Given the description of an element on the screen output the (x, y) to click on. 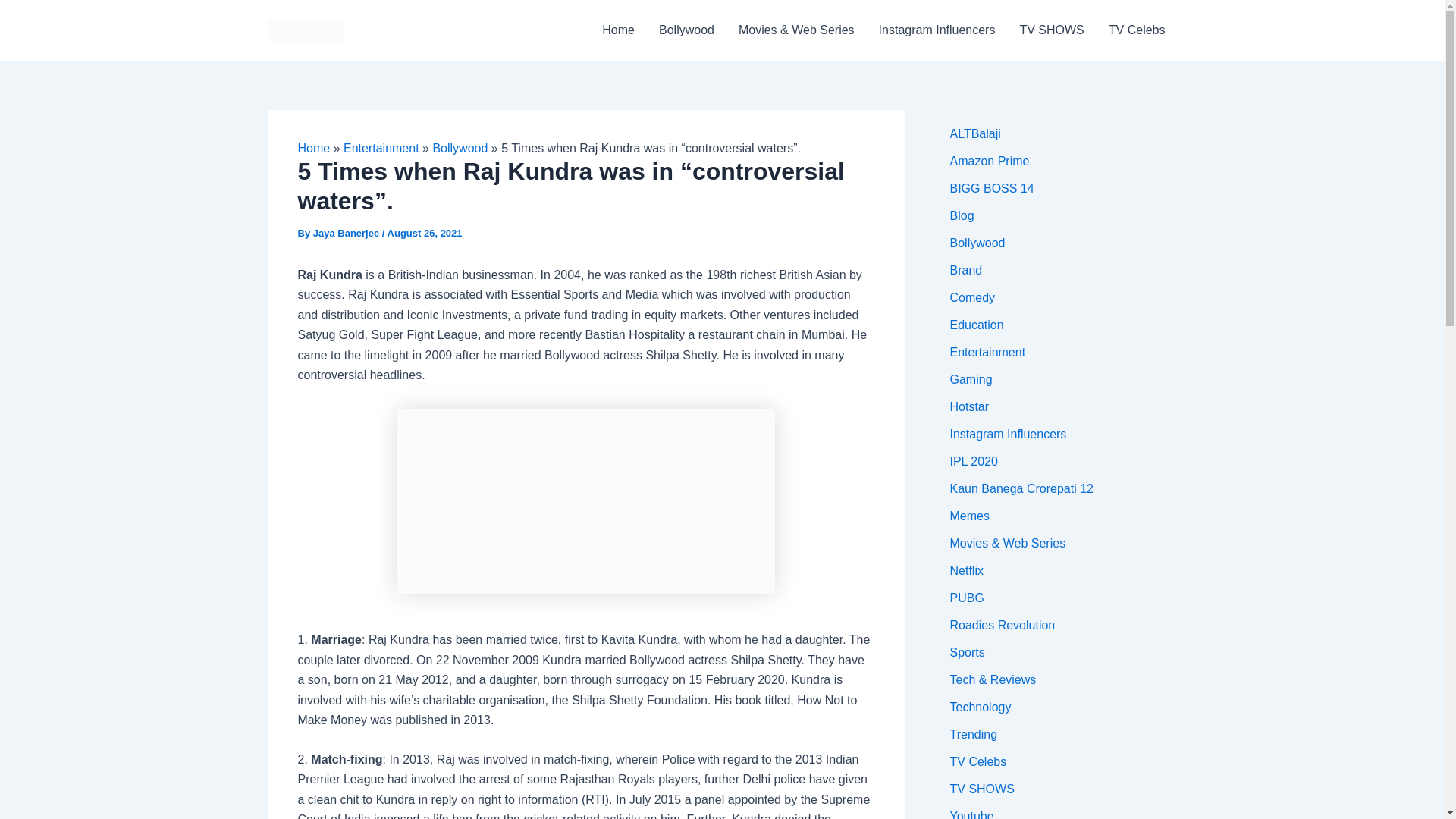
Instagram Influencers (936, 30)
Bollywood (686, 30)
TV Celebs (1136, 30)
Bollywood (459, 147)
Entertainment (381, 147)
Jaya Banerjee (347, 233)
Home (313, 147)
Home (617, 30)
TV SHOWS (1051, 30)
View all posts by Jaya Banerjee (347, 233)
